Given the description of an element on the screen output the (x, y) to click on. 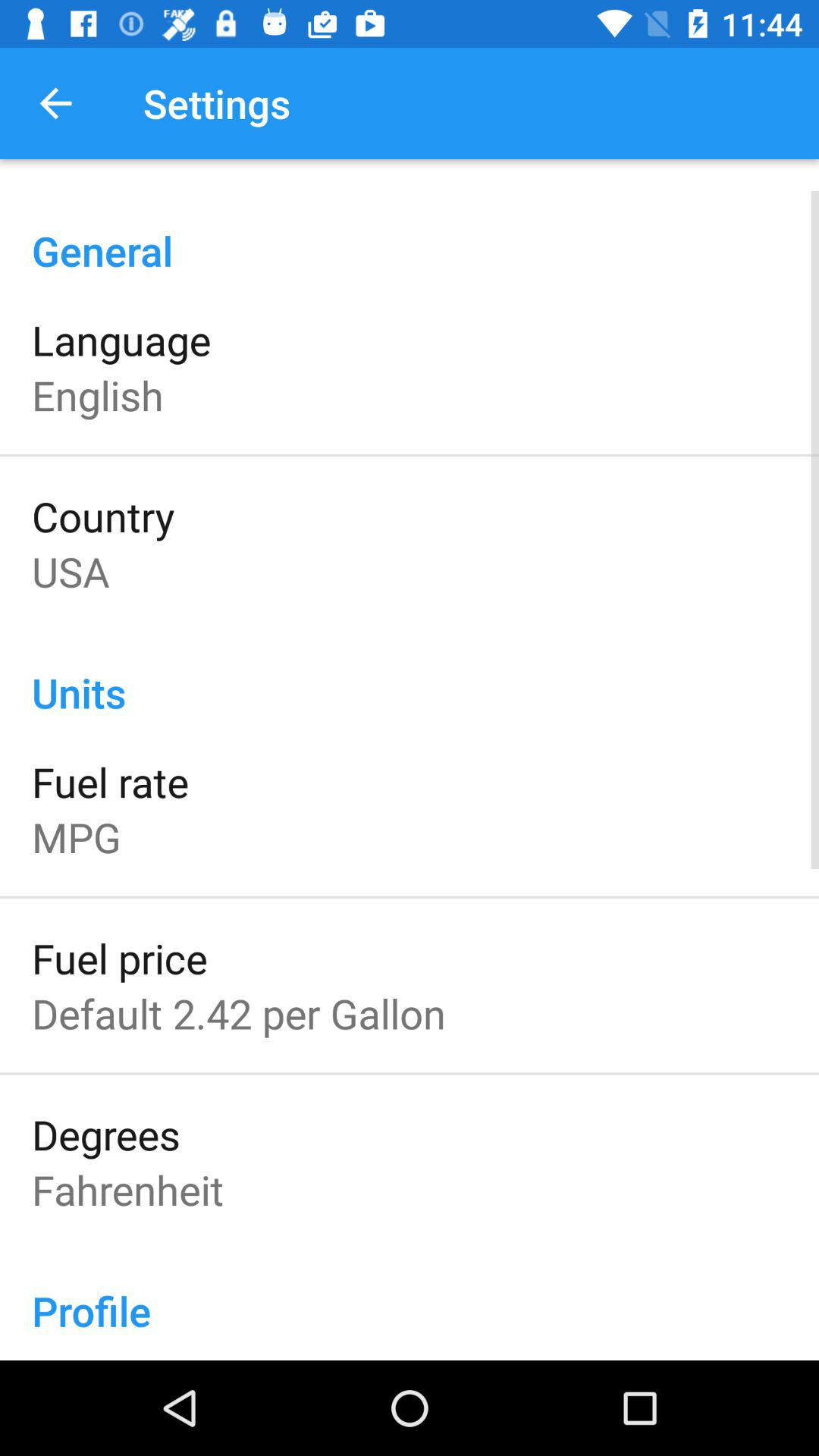
click mpg item (76, 836)
